Given the description of an element on the screen output the (x, y) to click on. 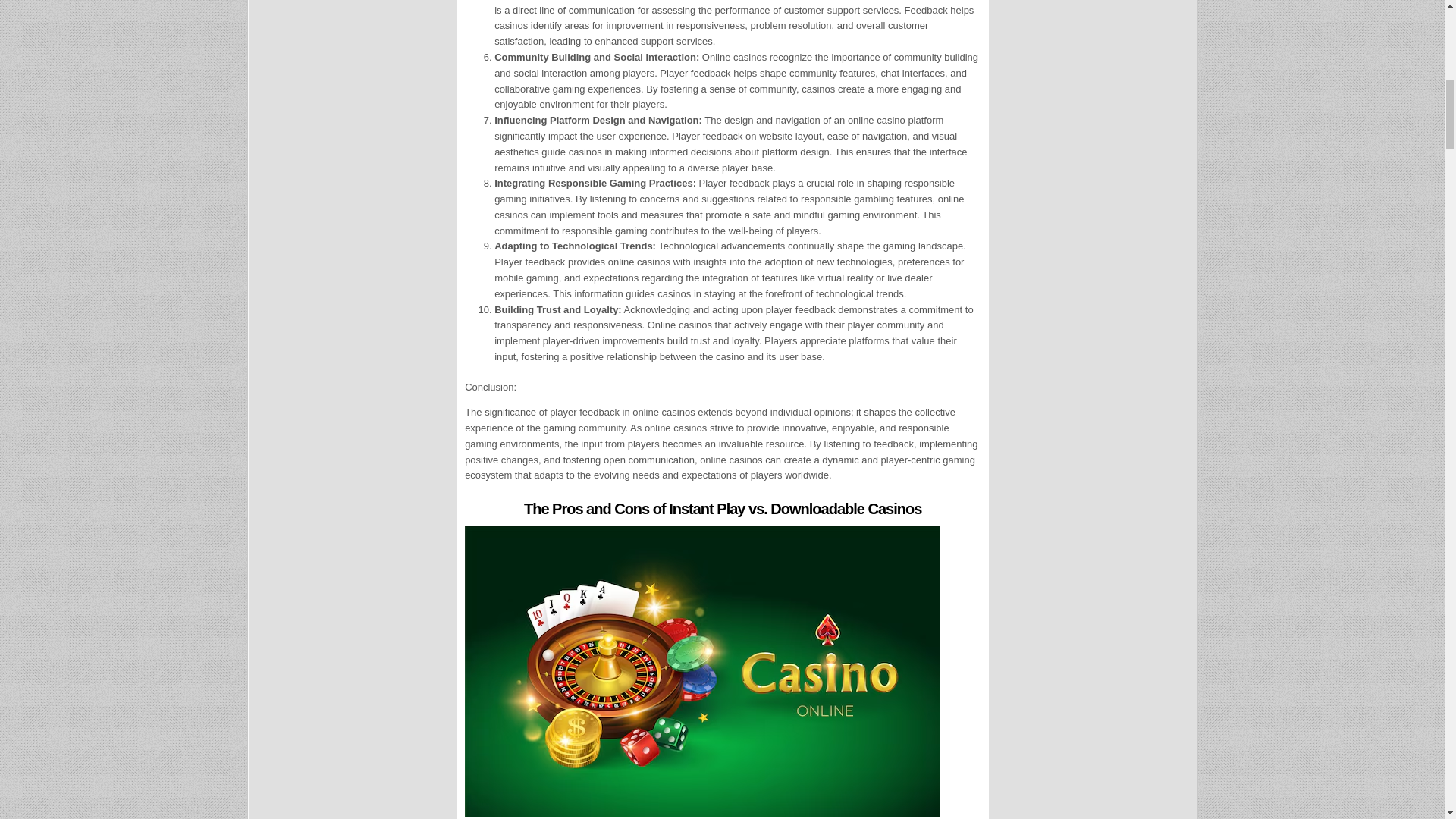
The Pros and Cons of Instant Play vs. Downloadable Casinos (722, 508)
